Given the description of an element on the screen output the (x, y) to click on. 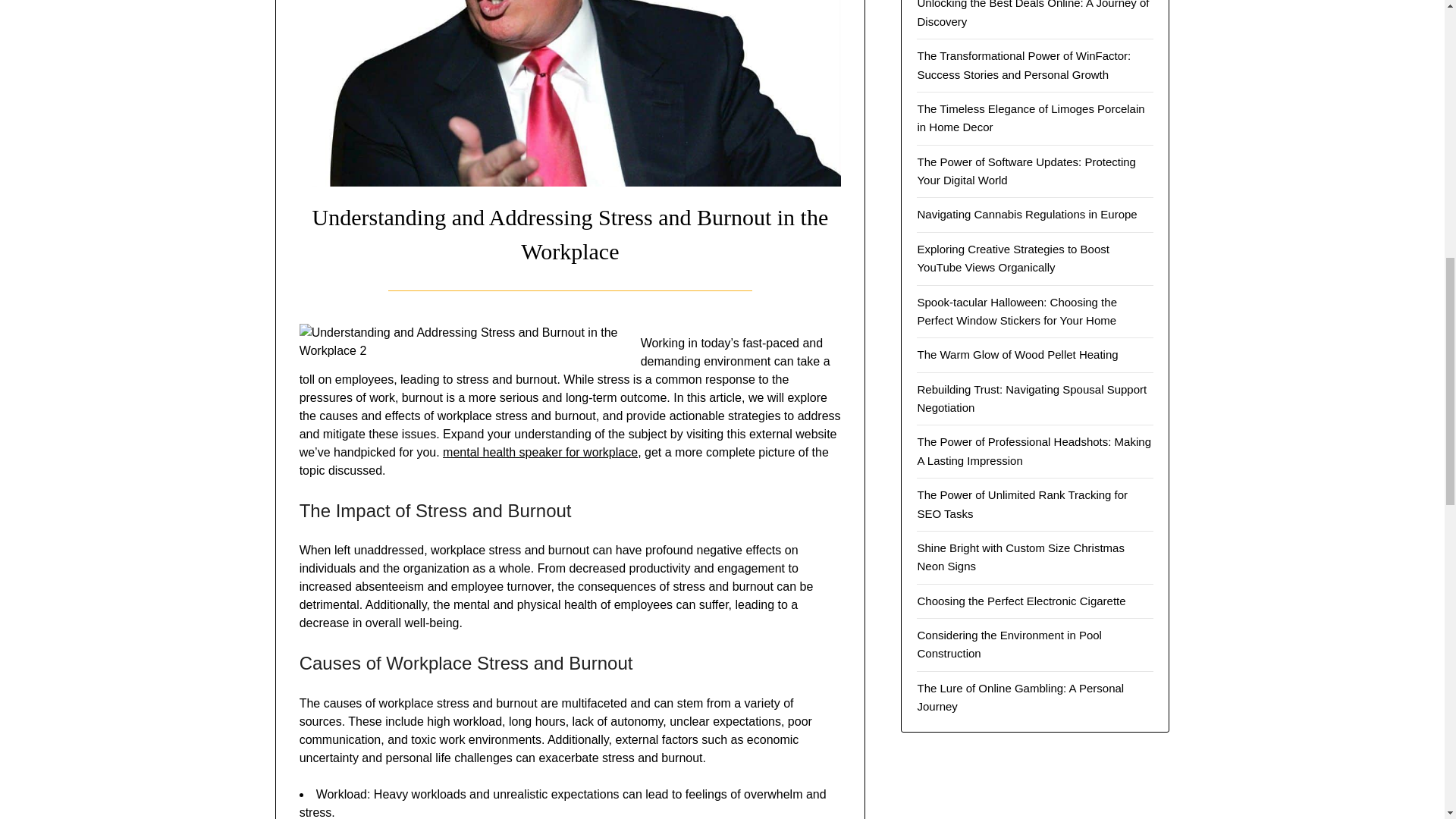
Shine Bright with Custom Size Christmas Neon Signs (1020, 556)
The Power of Unlimited Rank Tracking for SEO Tasks (1021, 503)
The Lure of Online Gambling: A Personal Journey (1020, 696)
The Power of Software Updates: Protecting Your Digital World (1026, 170)
Considering the Environment in Pool Construction (1008, 644)
Rebuilding Trust: Navigating Spousal Support Negotiation (1032, 398)
Choosing the Perfect Electronic Cigarette (1021, 600)
The Warm Glow of Wood Pellet Heating (1017, 354)
The Timeless Elegance of Limoges Porcelain in Home Decor (1030, 117)
Unlocking the Best Deals Online: A Journey of Discovery (1032, 13)
Navigating Cannabis Regulations in Europe (1027, 214)
